Given the description of an element on the screen output the (x, y) to click on. 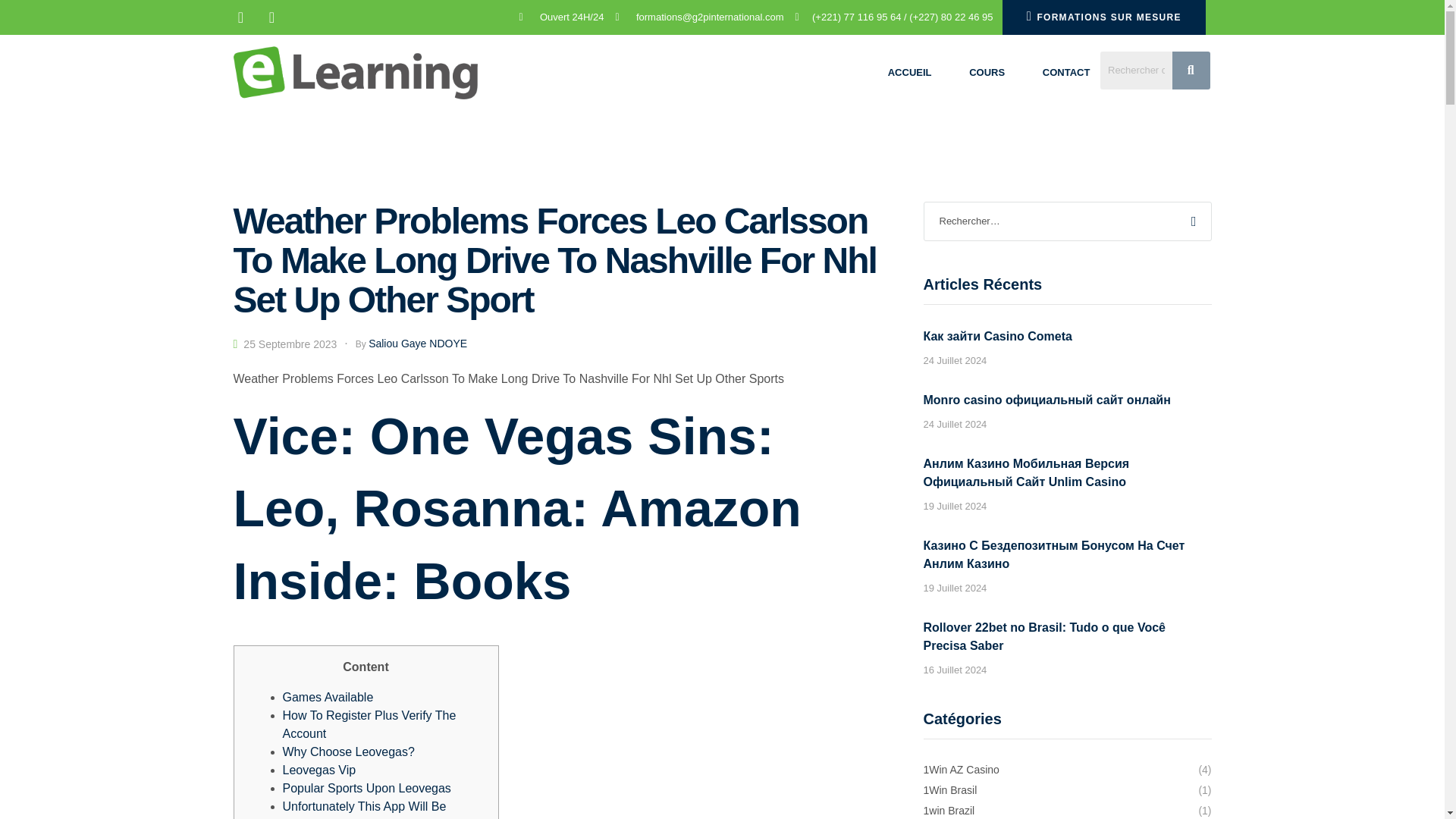
Saliou Gaye NDOYE (417, 343)
Rechercher (1190, 220)
CONTACT (1065, 72)
Rechercher (1190, 220)
COURS (987, 72)
ACCUEIL (909, 72)
How To Register Plus Verify The Account (368, 724)
Unfortunately This App Will Be Temporarily Unavailable (363, 809)
FORMATIONS SUR MESURE (1104, 17)
Popular Sports Upon Leovegas (365, 788)
Recherche (1136, 70)
Leovegas Vip (318, 769)
Games Available (327, 697)
25 Septembre 2023 (289, 343)
Why Choose Leovegas? (347, 751)
